Given the description of an element on the screen output the (x, y) to click on. 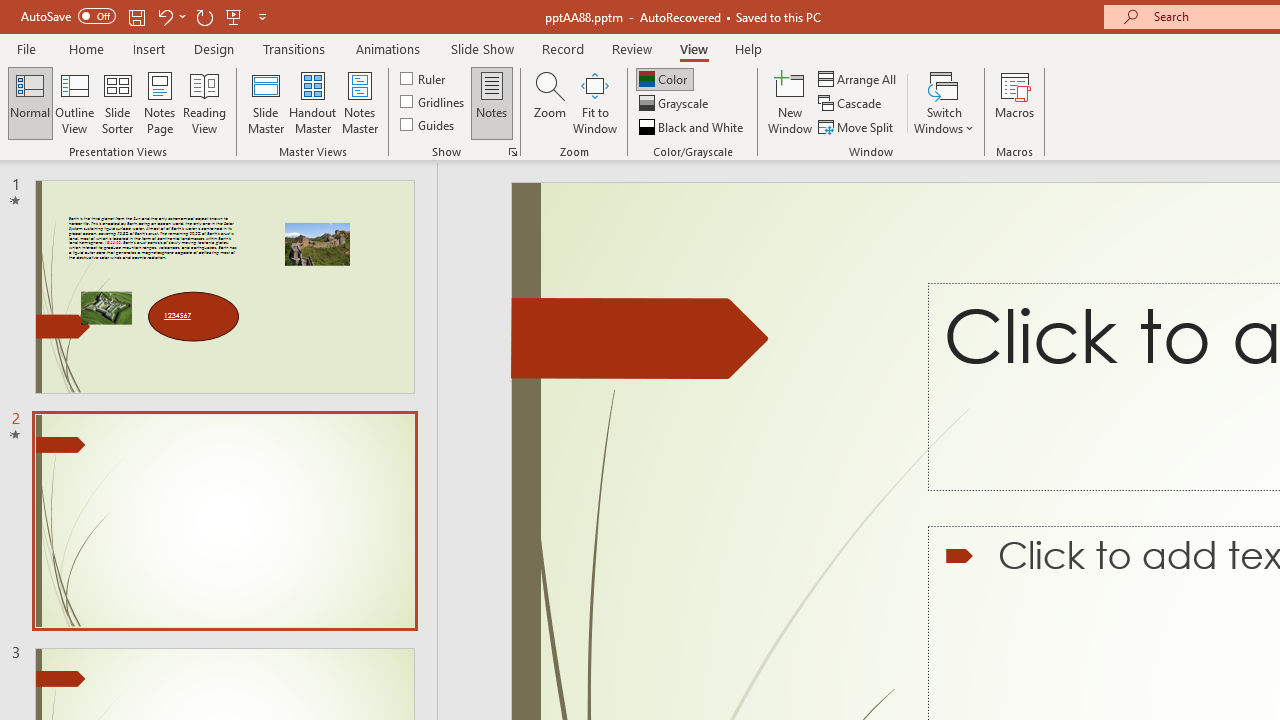
Cascade (851, 103)
Black and White (693, 126)
Notes Page (159, 102)
Grayscale (675, 103)
Guides (428, 124)
Arrange All (858, 78)
Grid Settings... (512, 151)
Macros (1014, 102)
Gridlines (433, 101)
